Given the description of an element on the screen output the (x, y) to click on. 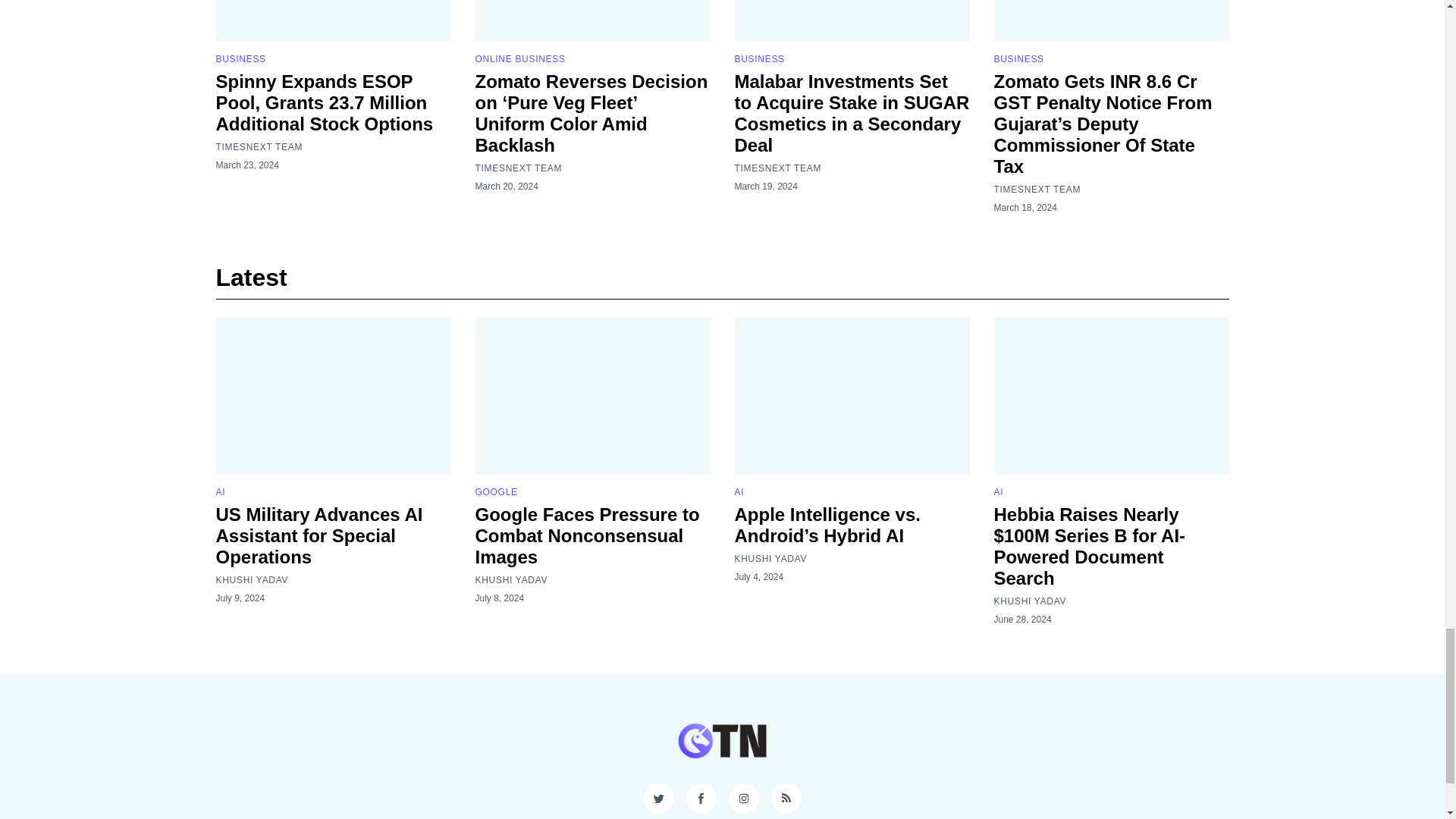
ONLINE BUSINESS (519, 59)
TIMESNEXT TEAM (258, 146)
BUSINESS (239, 59)
